Given the description of an element on the screen output the (x, y) to click on. 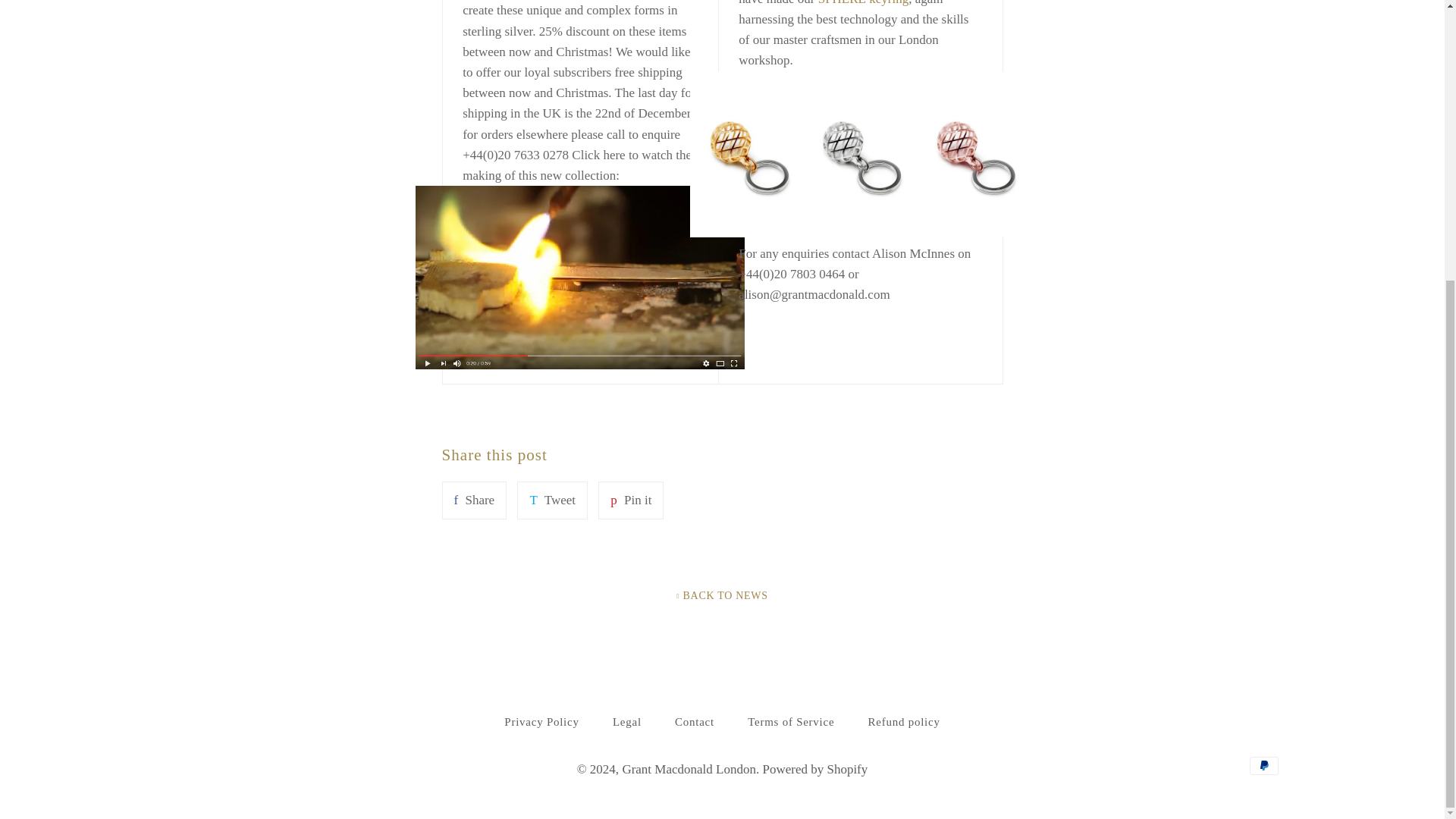
Share on Facebook (473, 499)
Pin on Pinterest (630, 499)
Tweet on Twitter (552, 499)
PayPal (1263, 765)
